Given the description of an element on the screen output the (x, y) to click on. 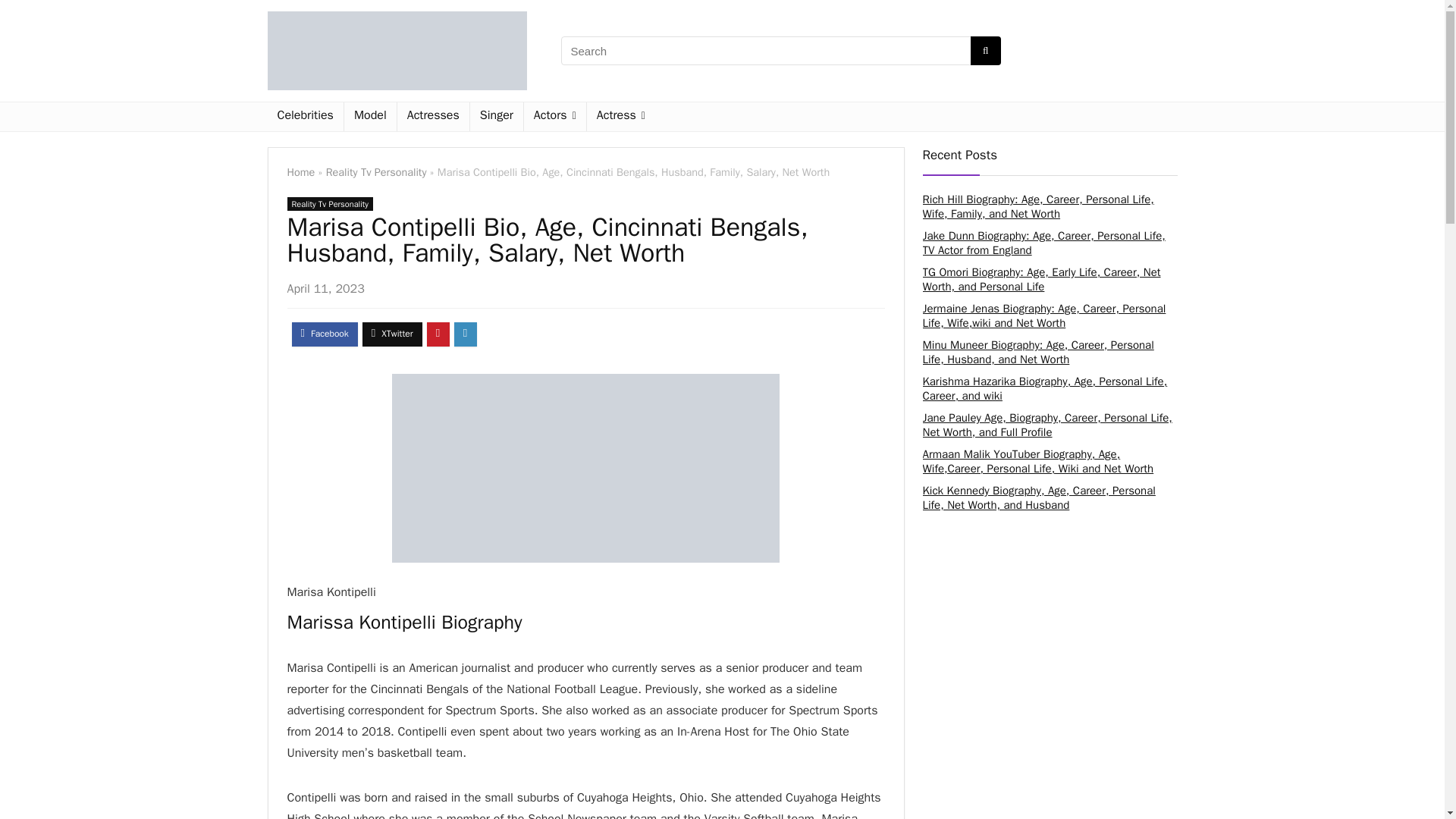
Singer (496, 116)
Home (300, 172)
Actors (555, 116)
Actresses (432, 116)
View all posts in Reality Tv Personality (329, 203)
Model (369, 116)
Reality Tv Personality (329, 203)
